Given the description of an element on the screen output the (x, y) to click on. 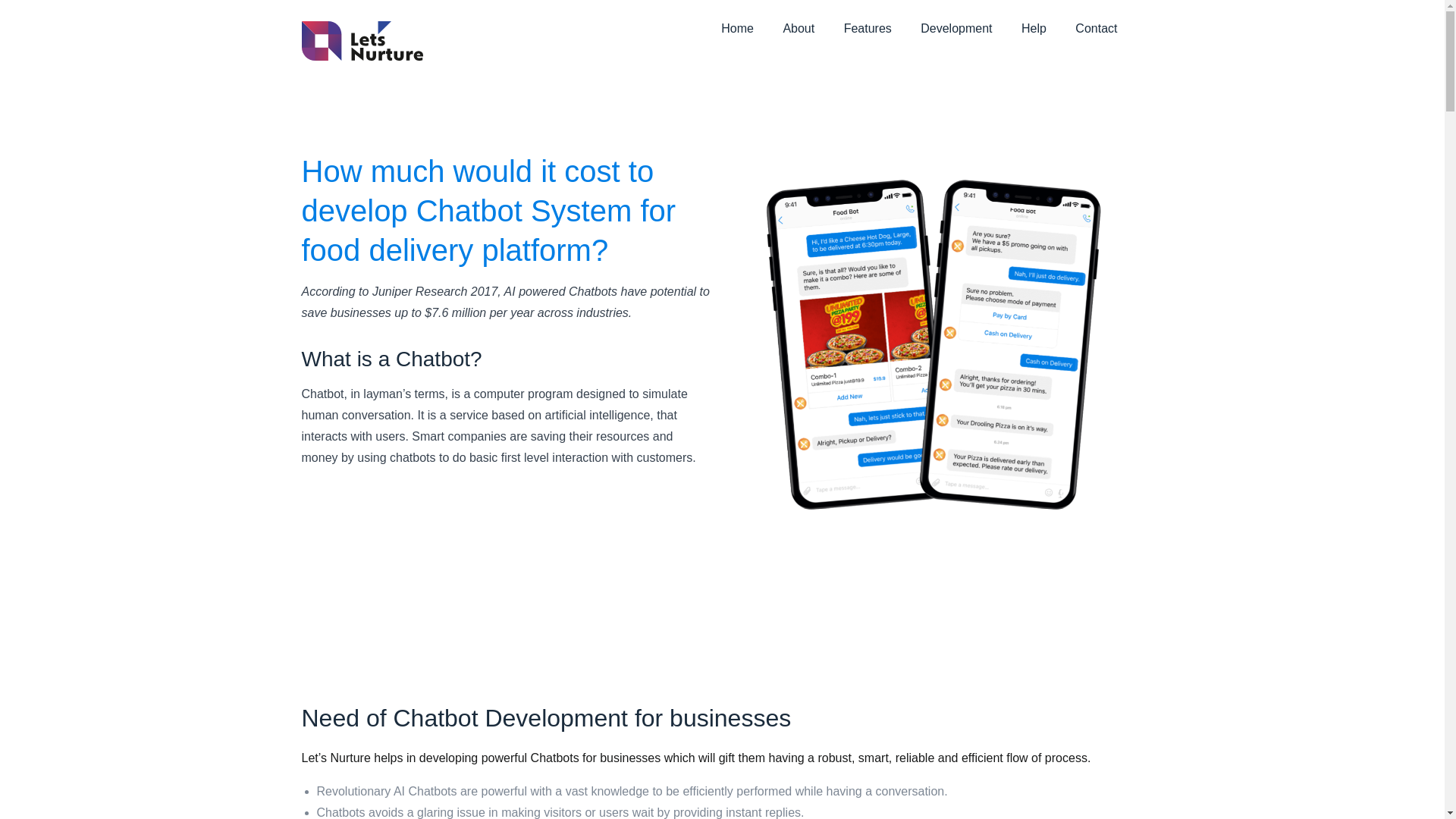
Features (880, 28)
Help (1046, 28)
Development (968, 28)
Development (968, 28)
Contact (1108, 28)
About (811, 28)
Features (880, 28)
Home (749, 28)
Contact (1108, 28)
Help (1046, 28)
